Given the description of an element on the screen output the (x, y) to click on. 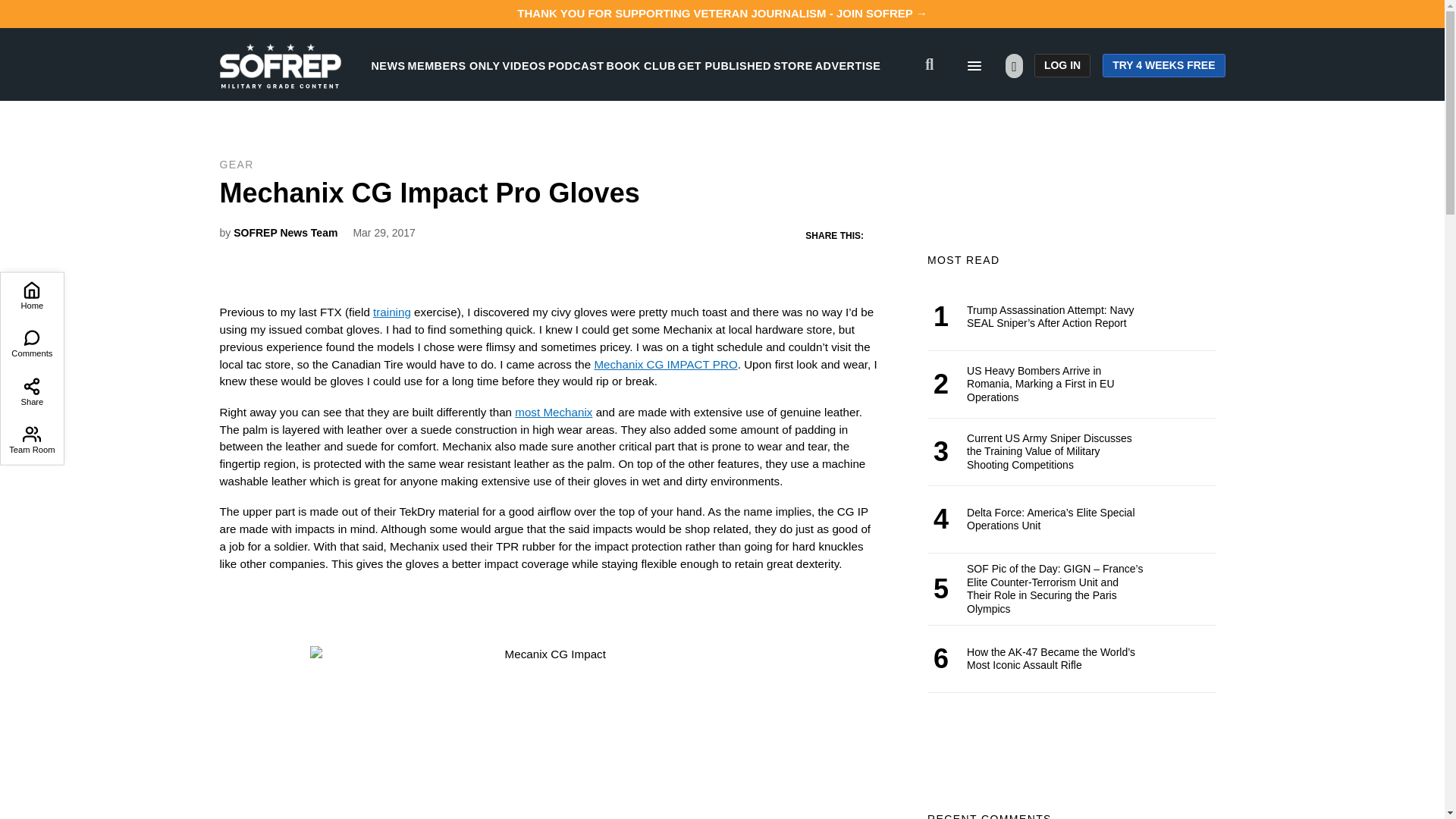
TRY 4 WEEKS FREE (1163, 65)
GET PUBLISHED (724, 65)
ADVERTISE (847, 65)
BOOK CLUB (641, 65)
STORE (792, 65)
NEWS (388, 65)
VIDEOS (524, 65)
LOG IN (1061, 65)
MEMBERS ONLY (453, 65)
PODCAST (576, 65)
